Given the description of an element on the screen output the (x, y) to click on. 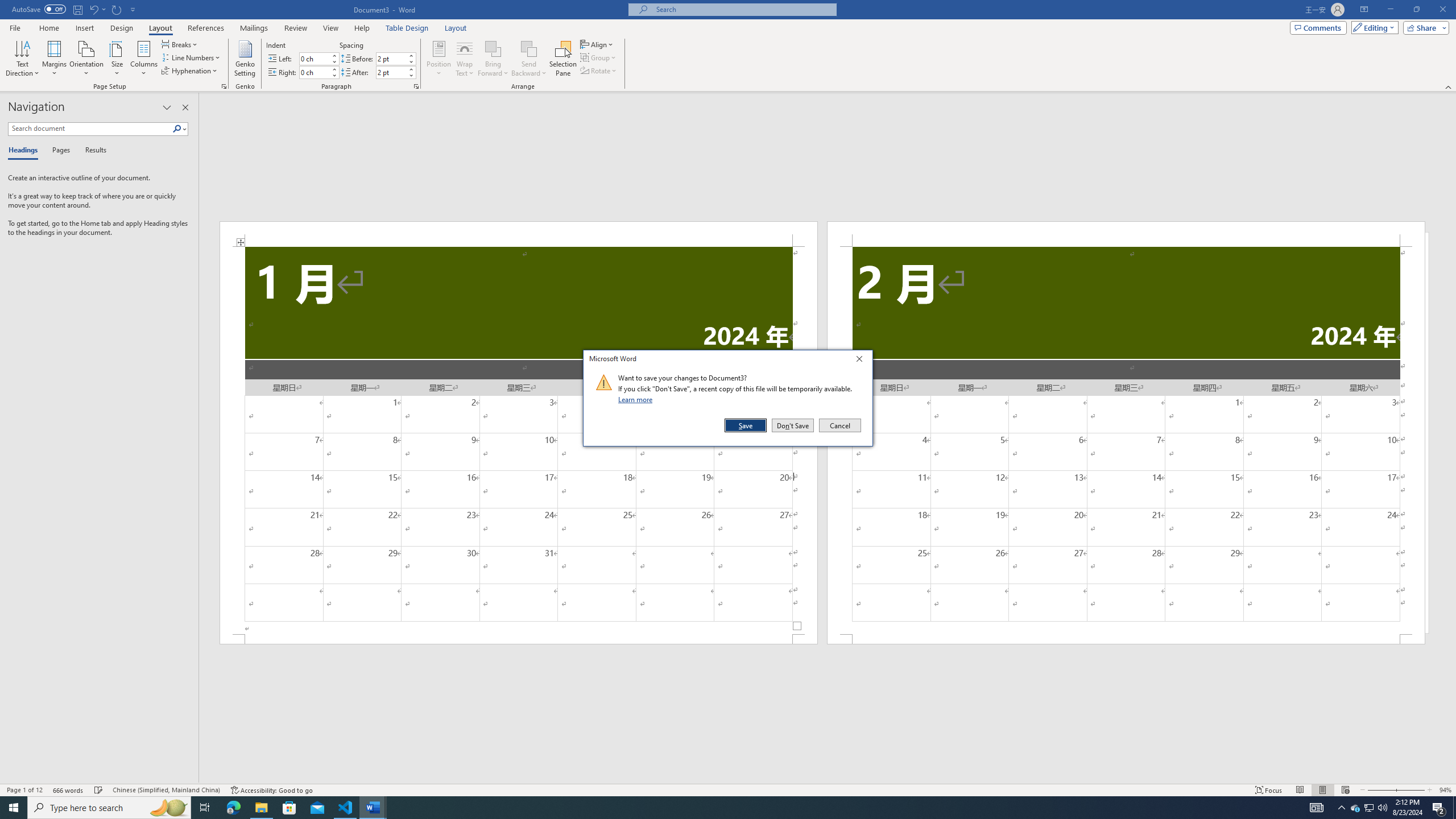
Bring Forward (492, 58)
Align (597, 44)
Spacing Before (391, 58)
Running applications (717, 807)
More (411, 69)
Indent Left (314, 58)
